Given the description of an element on the screen output the (x, y) to click on. 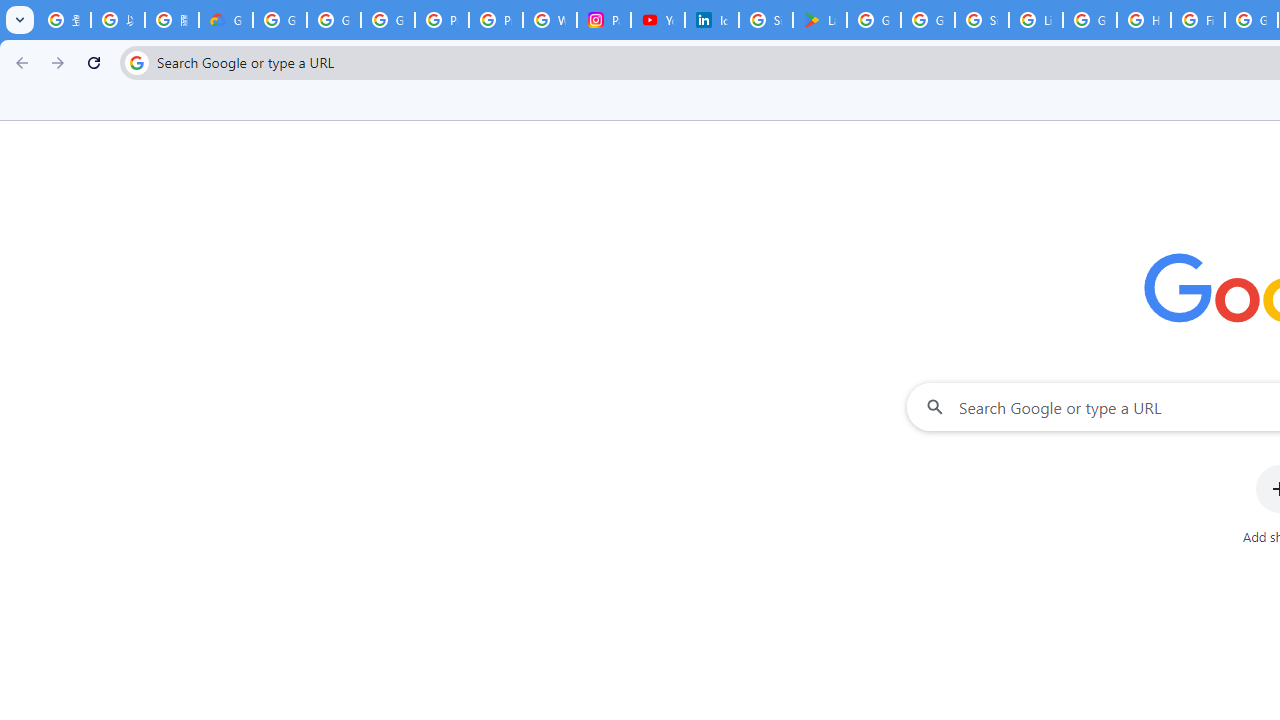
Identity verification via Persona | LinkedIn Help (711, 20)
Privacy Help Center - Policies Help (441, 20)
YouTube Culture & Trends - On The Rise: Handcam Videos (657, 20)
Search icon (136, 62)
How do I create a new Google Account? - Google Account Help (1144, 20)
Google Workspace - Specific Terms (927, 20)
Last Shelter: Survival - Apps on Google Play (819, 20)
